Given the description of an element on the screen output the (x, y) to click on. 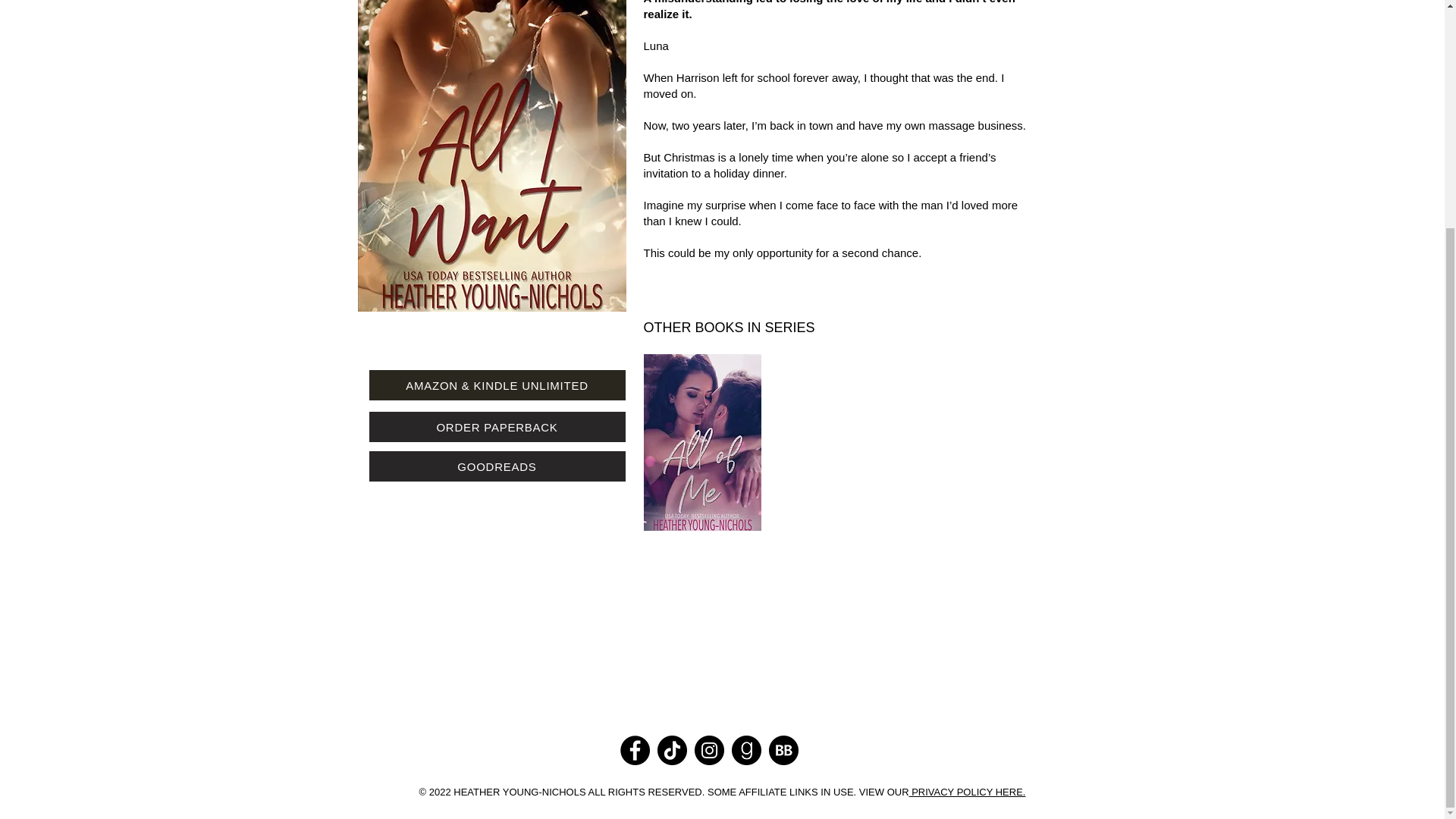
GOODREADS (496, 466)
Embedded Content (721, 641)
ORDER PAPERBACK (496, 426)
 PRIVACY POLICY HERE. (967, 791)
